Given the description of an element on the screen output the (x, y) to click on. 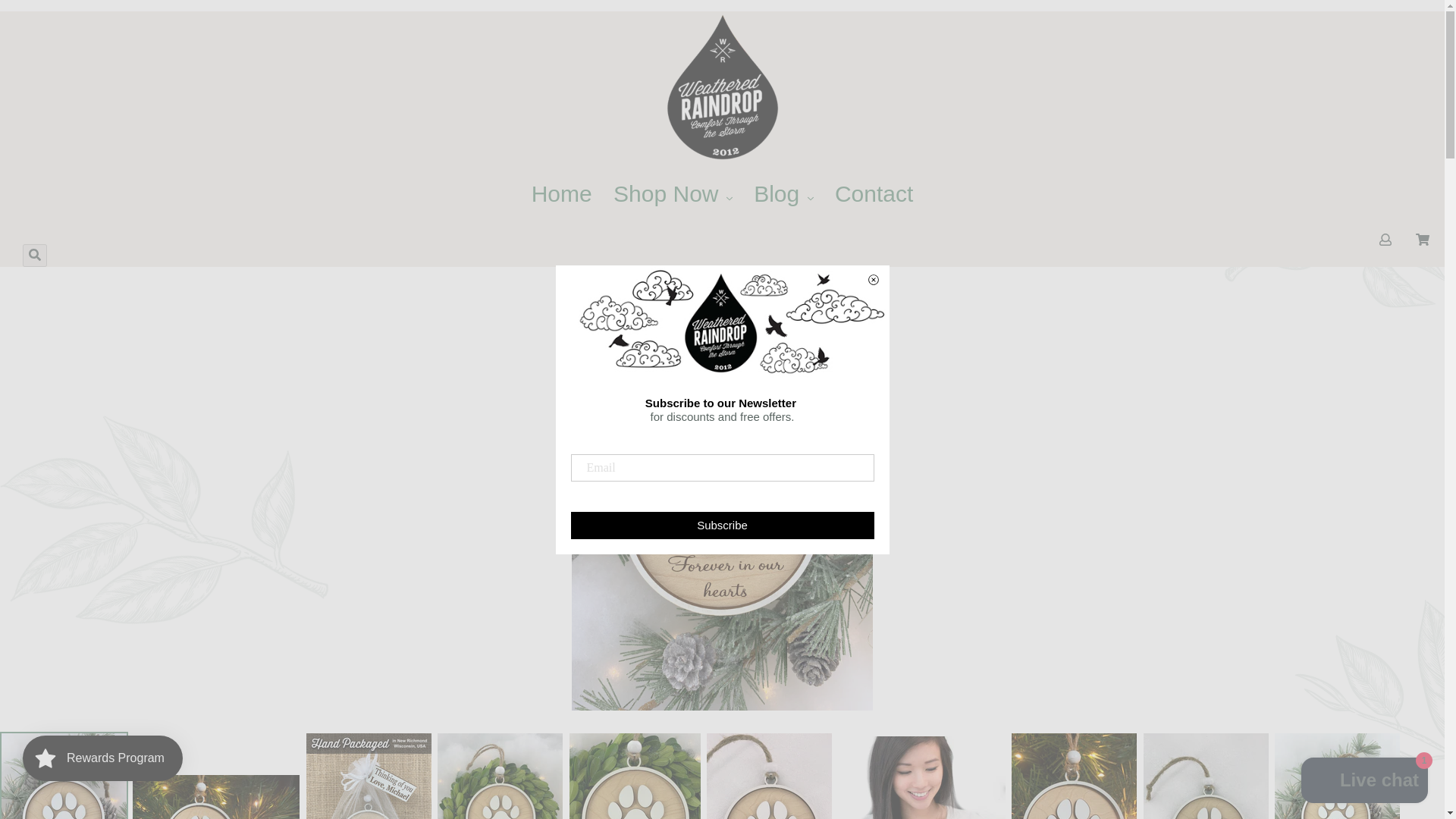
Contact (873, 193)
Shopify online store chat (1364, 781)
Search (34, 255)
Home (561, 193)
